Given the description of an element on the screen output the (x, y) to click on. 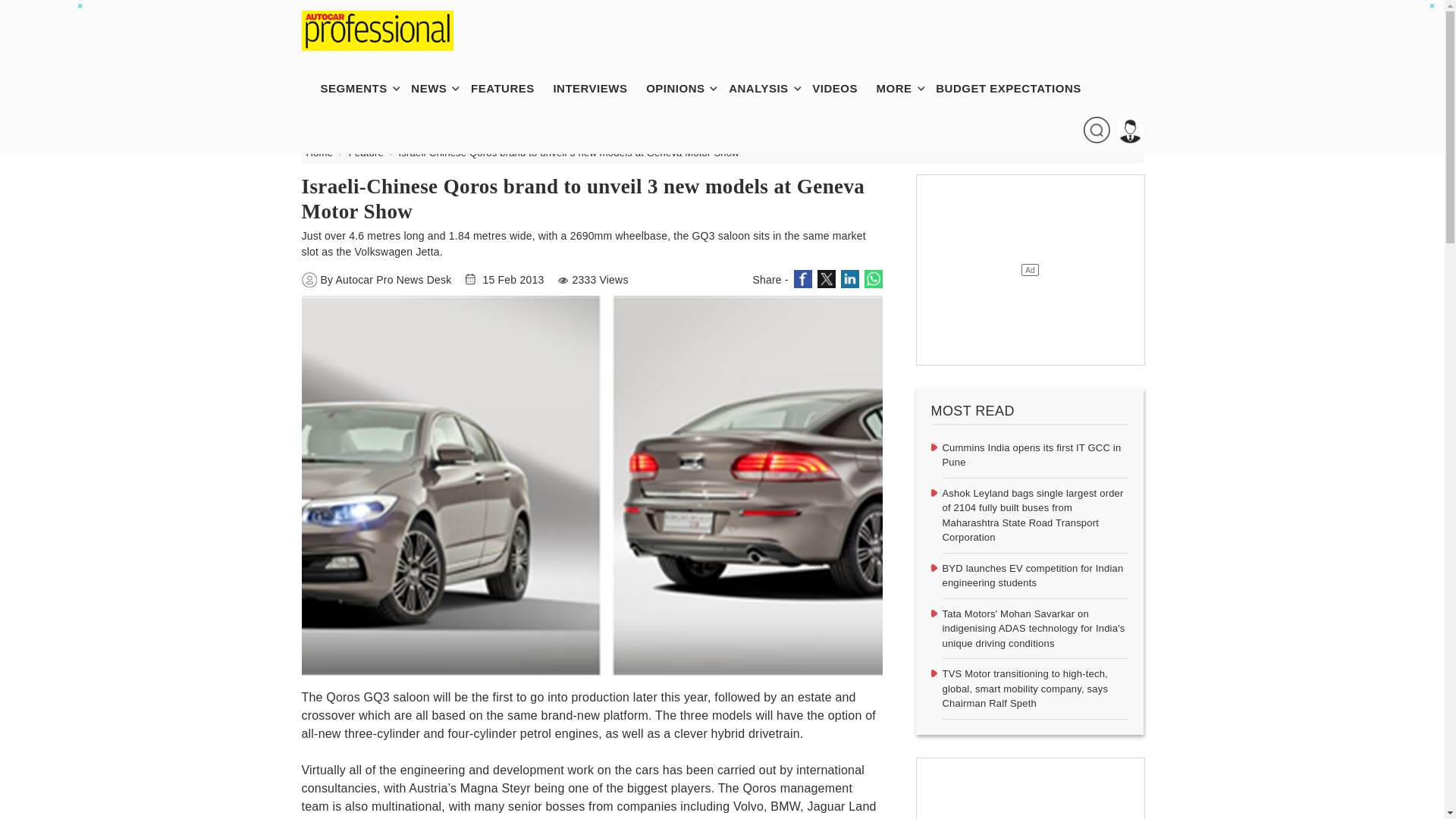
VIDEOS (842, 88)
OPINIONS (682, 88)
FEATURES (510, 88)
INTERVIEWS (596, 88)
SEGMENTS (361, 88)
MORE (901, 88)
NEWS (435, 88)
BUDGET EXPECTATIONS (1015, 88)
ANALYSIS (765, 88)
